Given the description of an element on the screen output the (x, y) to click on. 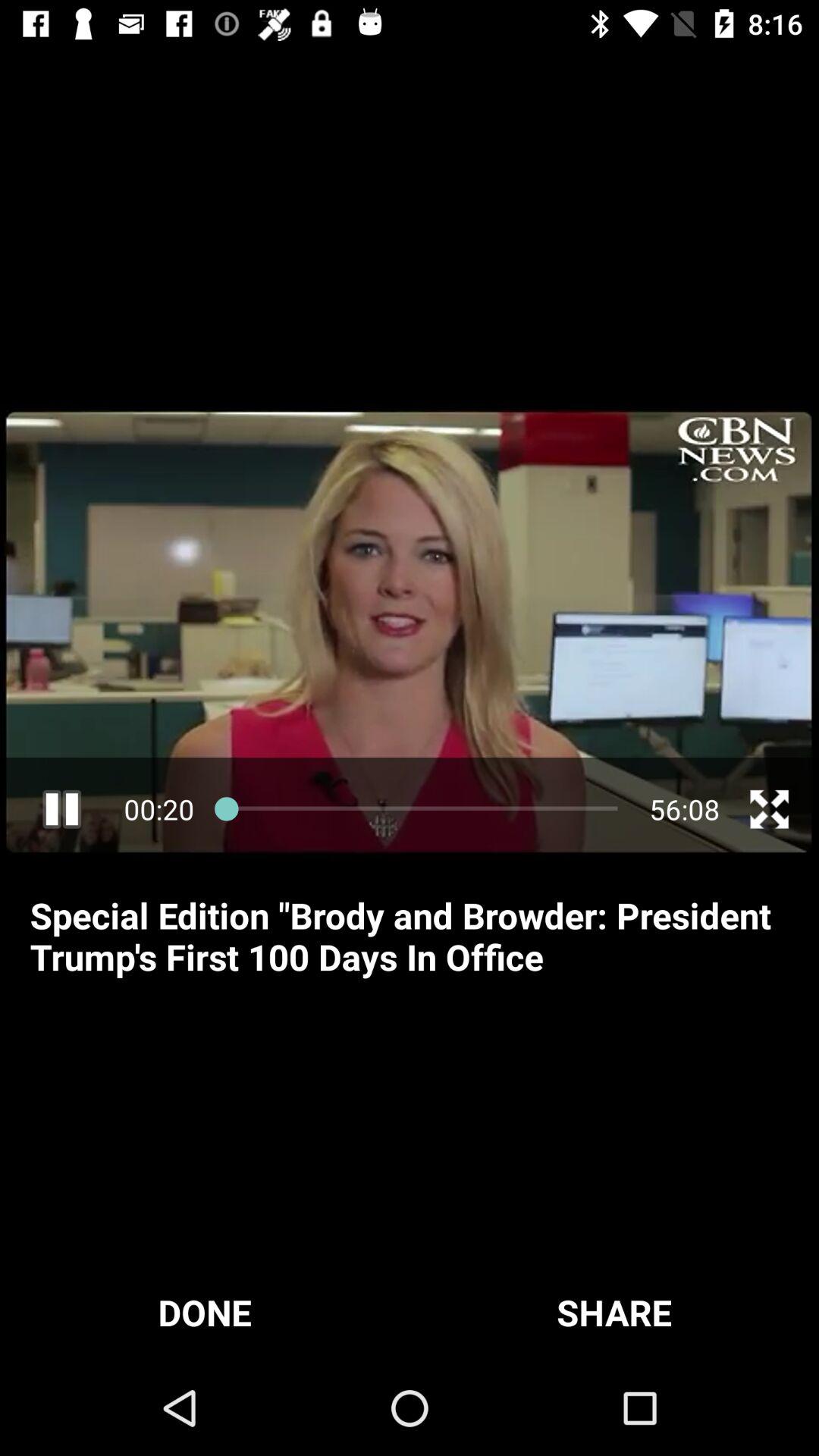
pause the video (61, 809)
